Given the description of an element on the screen output the (x, y) to click on. 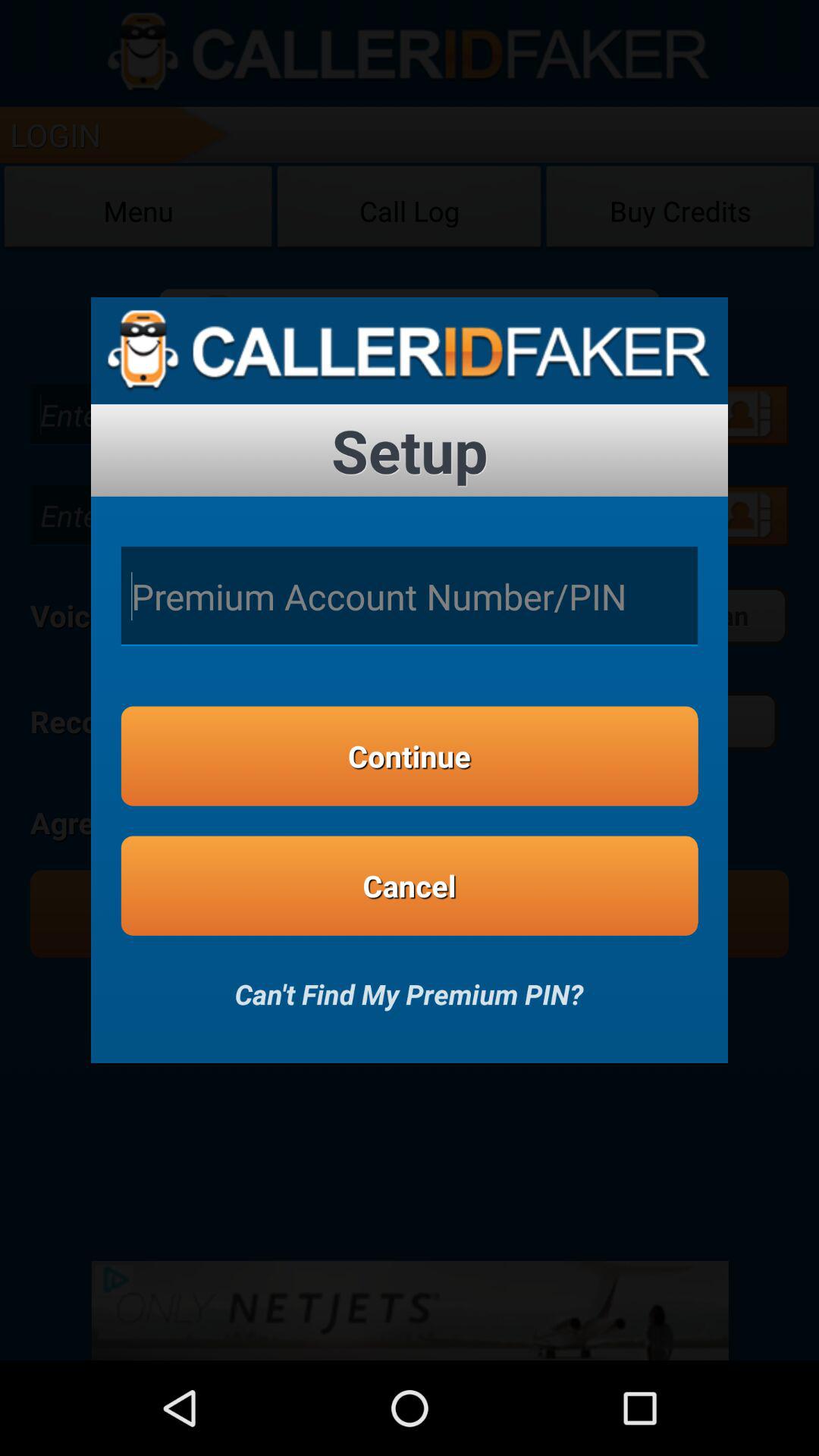
choose button above the cancel item (409, 755)
